Given the description of an element on the screen output the (x, y) to click on. 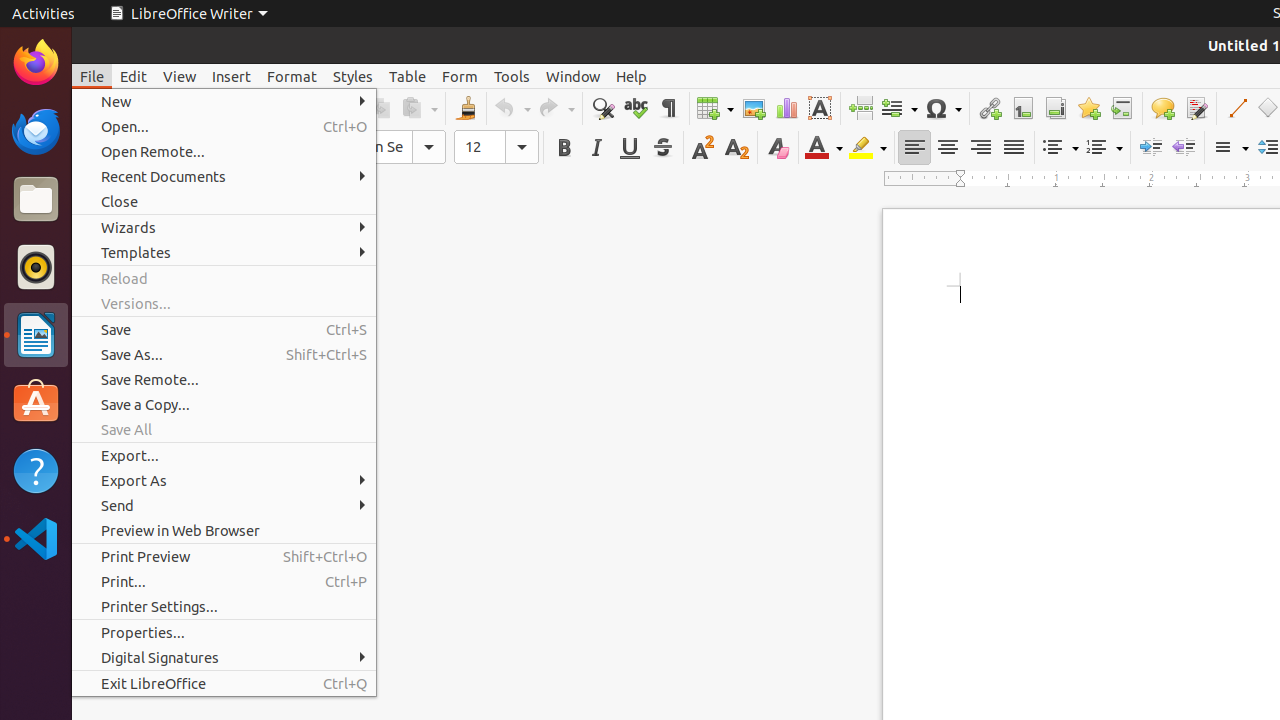
Chart Element type: push-button (786, 108)
Save Element type: menu-item (224, 329)
Highlight Color Element type: push-button (868, 147)
Templates Element type: menu (224, 252)
Export As Element type: menu (224, 480)
